Given the description of an element on the screen output the (x, y) to click on. 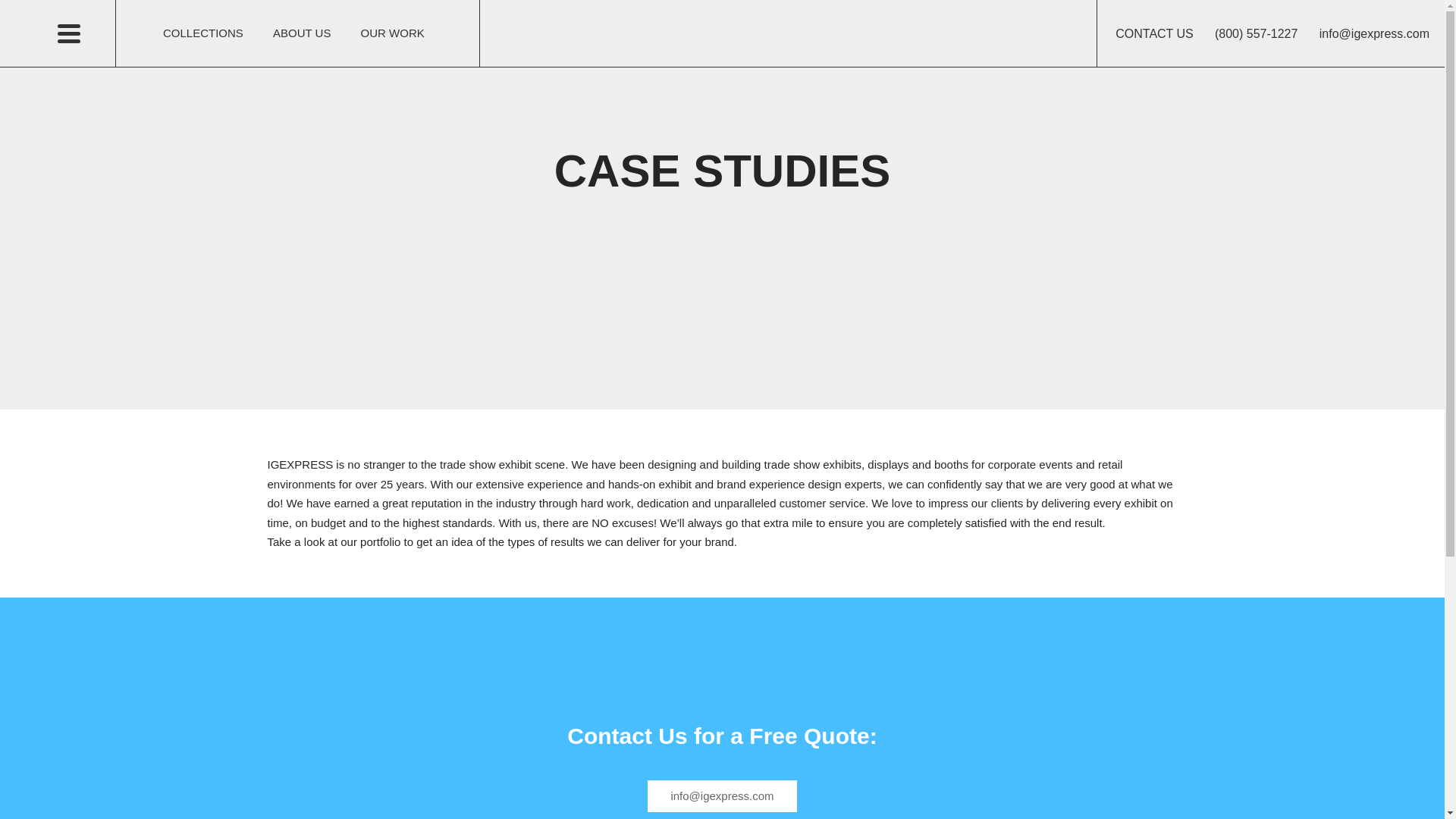
logo (721, 33)
CONTACT US (1154, 33)
COLLECTIONS (202, 33)
ABOUT US (302, 33)
OUR WORK (392, 33)
